Given the description of an element on the screen output the (x, y) to click on. 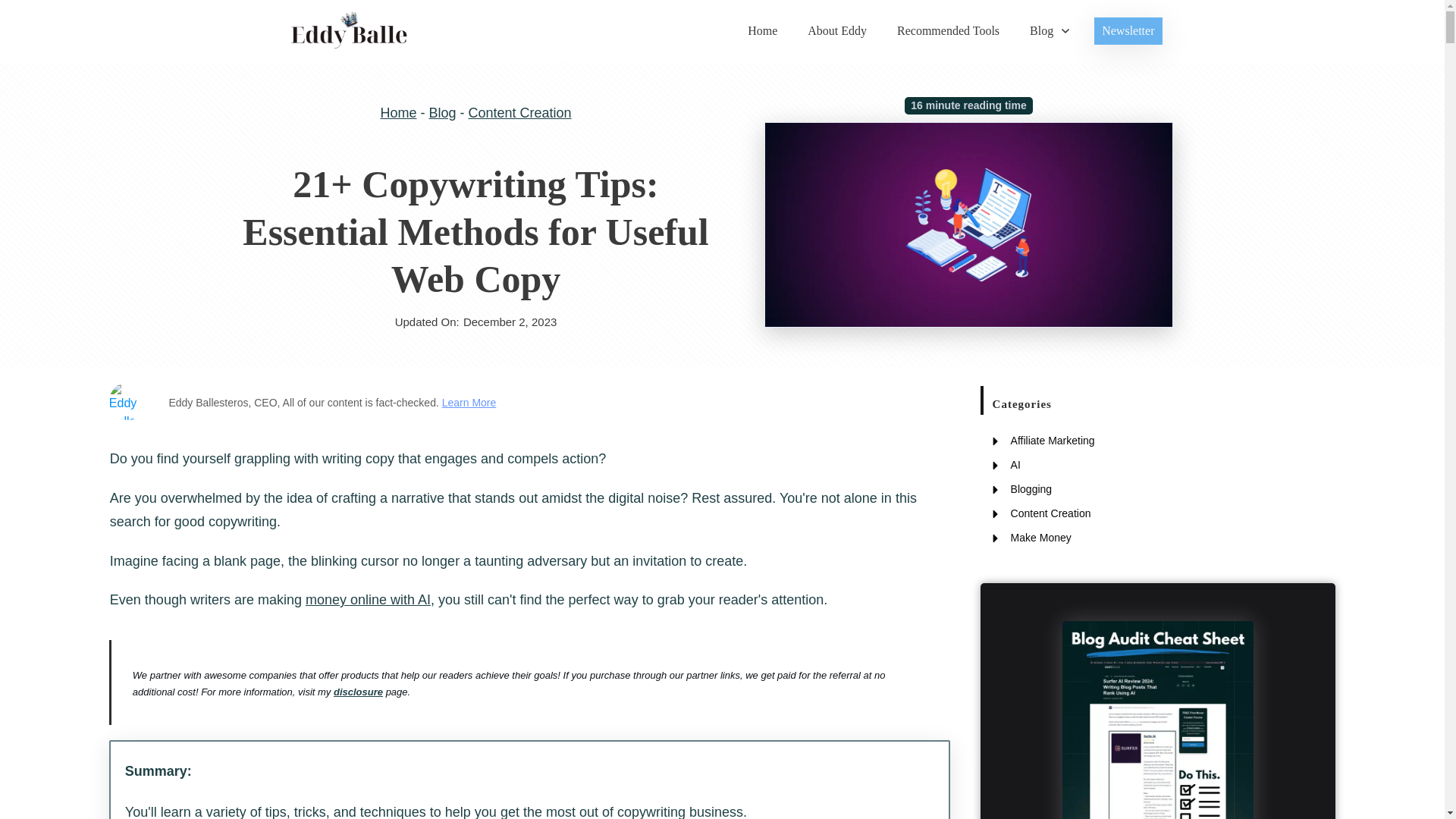
money online with AI (367, 599)
Learn More (469, 402)
Blog (1050, 30)
Content Creation (518, 111)
Eddy Balle Author Image (128, 401)
Home (762, 30)
Newsletter (1128, 30)
disclosure (357, 691)
Blog post audit cheat sheet (1157, 719)
About Eddy (837, 30)
